Given the description of an element on the screen output the (x, y) to click on. 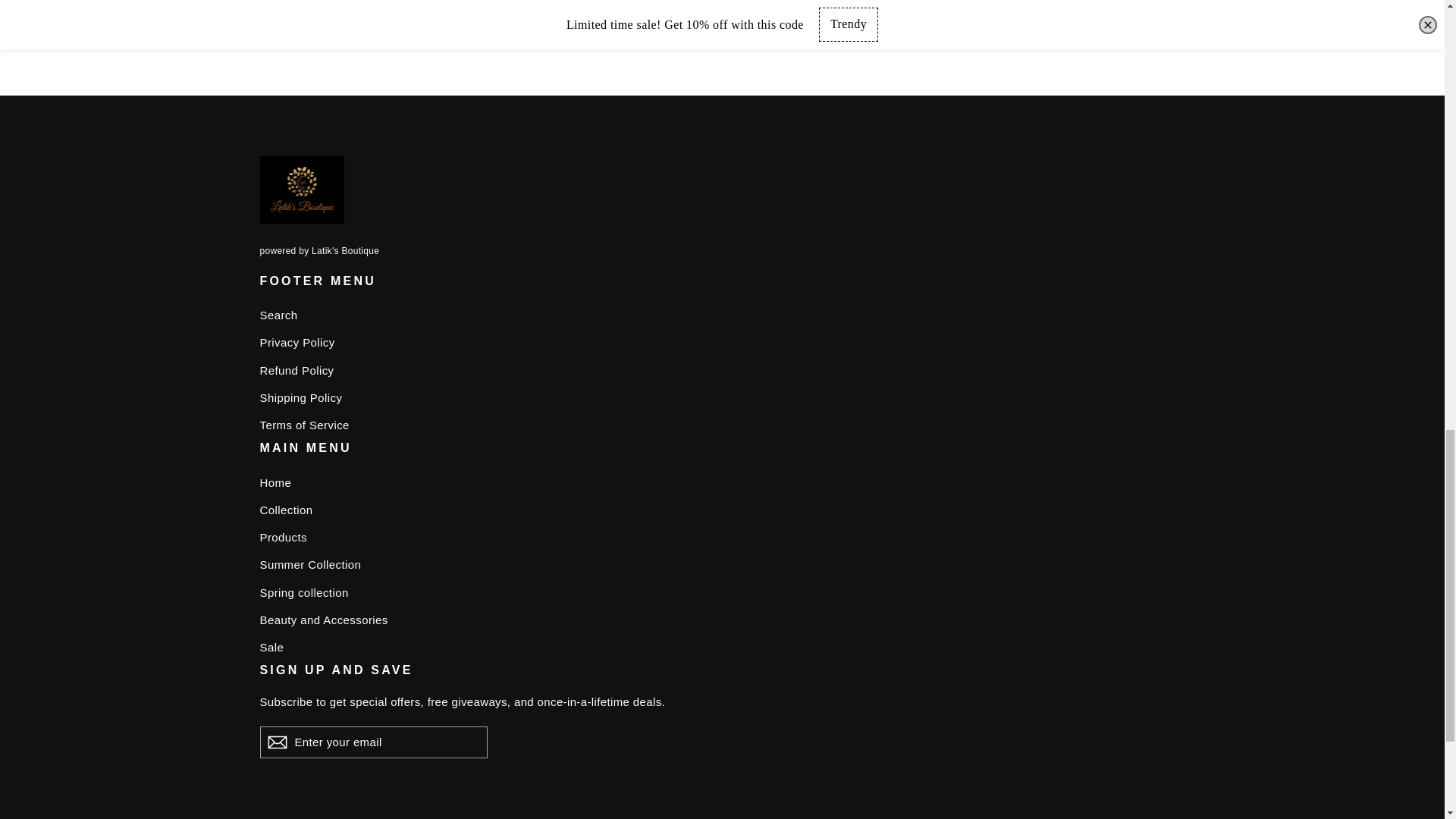
Share on Facebook (799, 39)
Tweet on Twitter (872, 39)
Pin on Pinterest (942, 39)
